Given the description of an element on the screen output the (x, y) to click on. 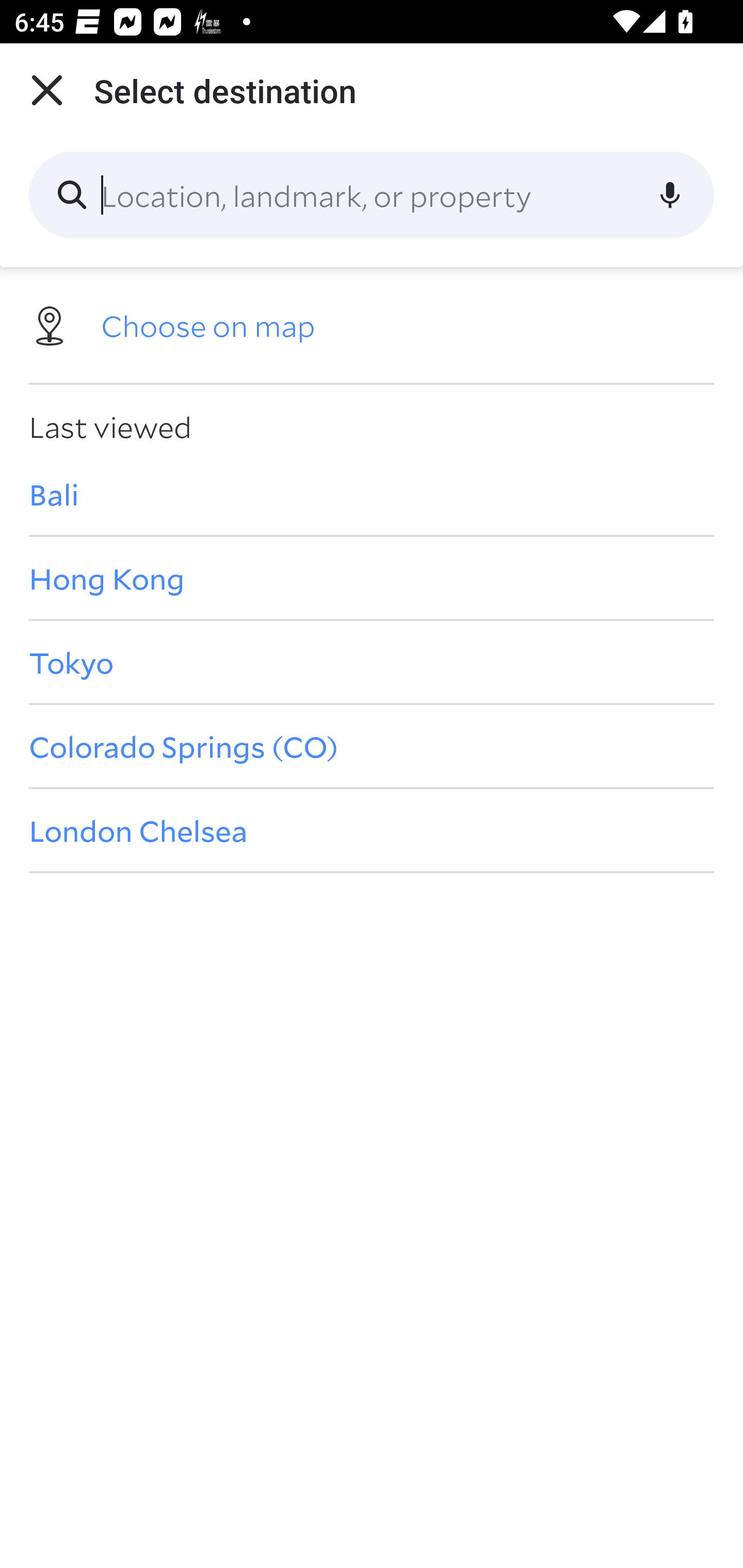
Location, landmark, or property (371, 195)
Choose on map (371, 324)
Bali (371, 493)
Hong Kong (371, 577)
Tokyo (371, 661)
Colorado Springs (CO) (371, 746)
London Chelsea (371, 829)
